Given the description of an element on the screen output the (x, y) to click on. 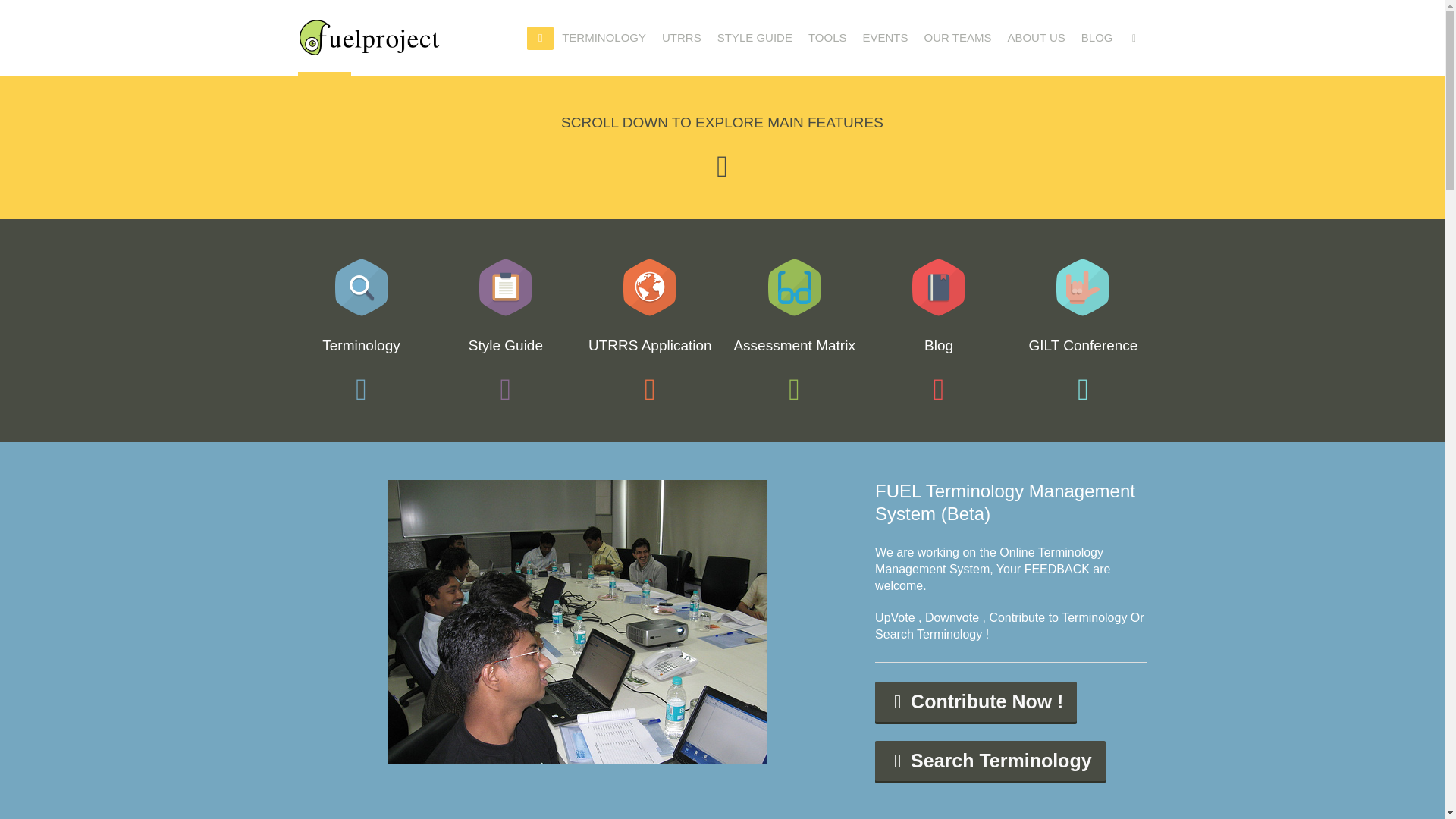
Contribute Now ! (976, 701)
TERMINOLOGY (603, 37)
EVENTS (884, 37)
Search Terminology (990, 761)
OUR TEAMS (956, 37)
TOOLS (827, 37)
UTRRS (681, 37)
FUEL Project (368, 37)
STYLE GUIDE (754, 37)
BLOG (1097, 37)
